Given the description of an element on the screen output the (x, y) to click on. 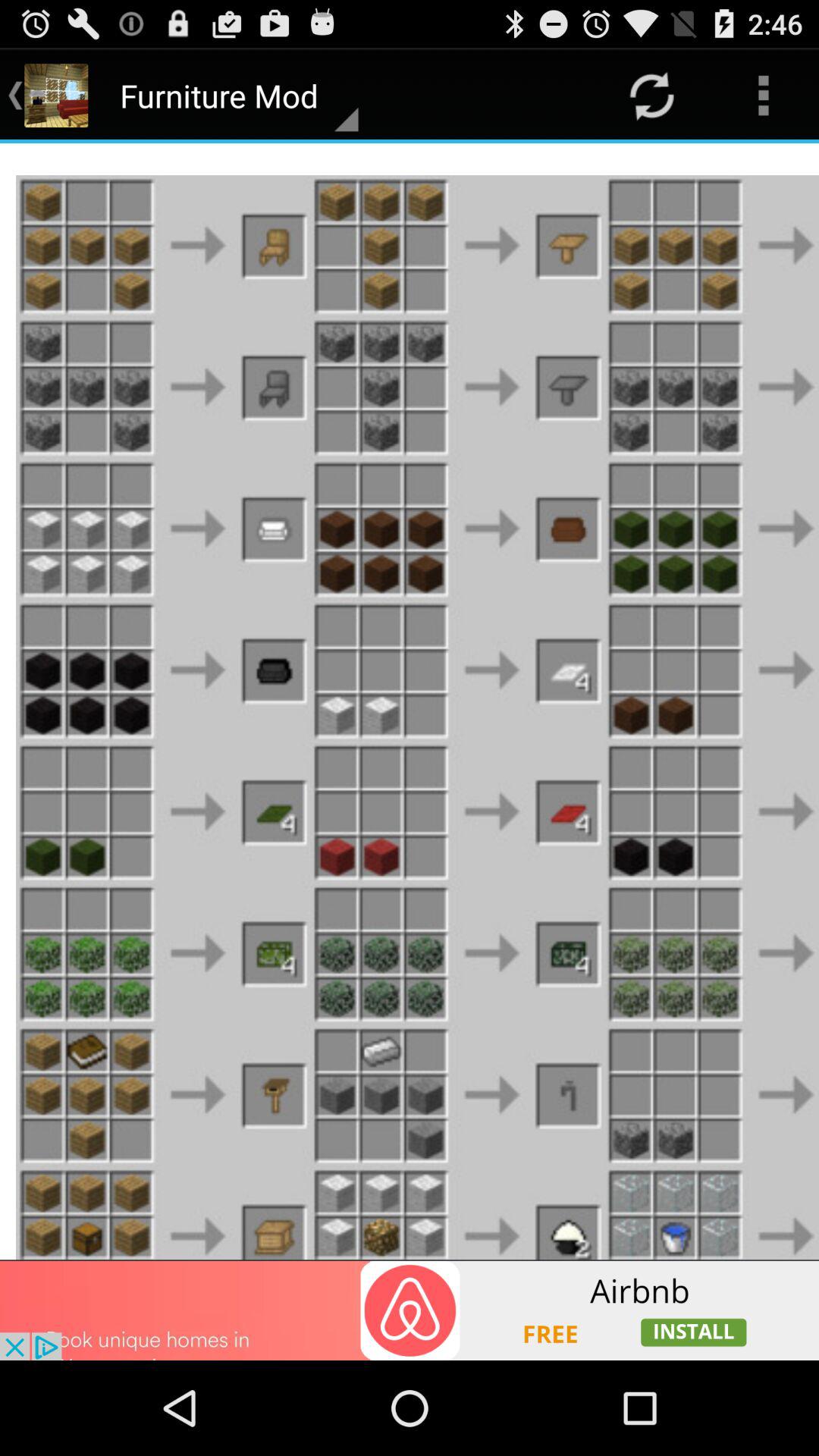
open advertisement (409, 1310)
